Given the description of an element on the screen output the (x, y) to click on. 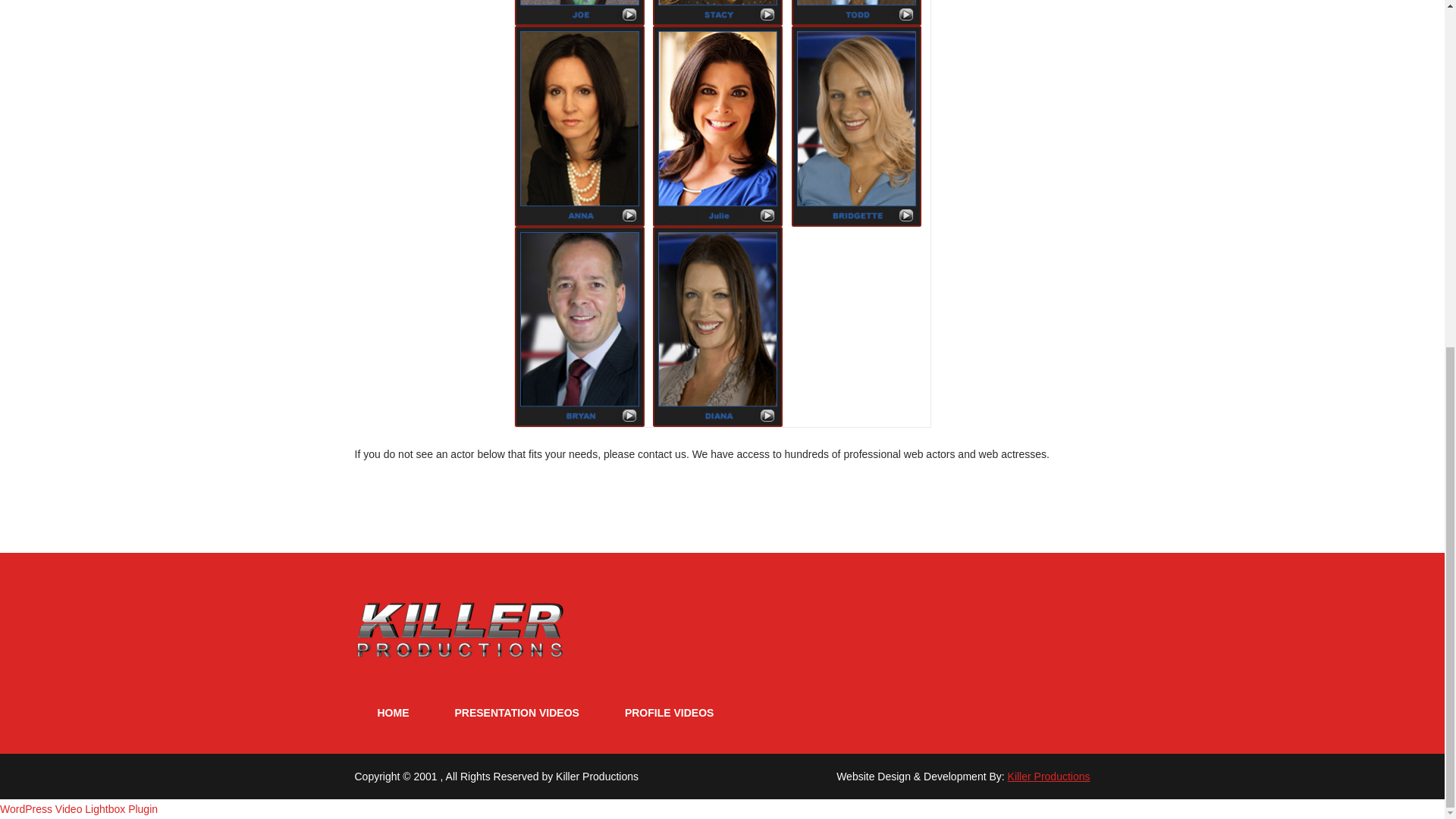
WordPress Video Lightbox Plugin (78, 808)
Killer Productions (1048, 776)
PRESENTATION VIDEOS (516, 712)
PROFILE VIDEOS (668, 712)
HOME (393, 712)
Killer Productions (597, 776)
WordPress Video Lightbox Plugin (78, 808)
